Given the description of an element on the screen output the (x, y) to click on. 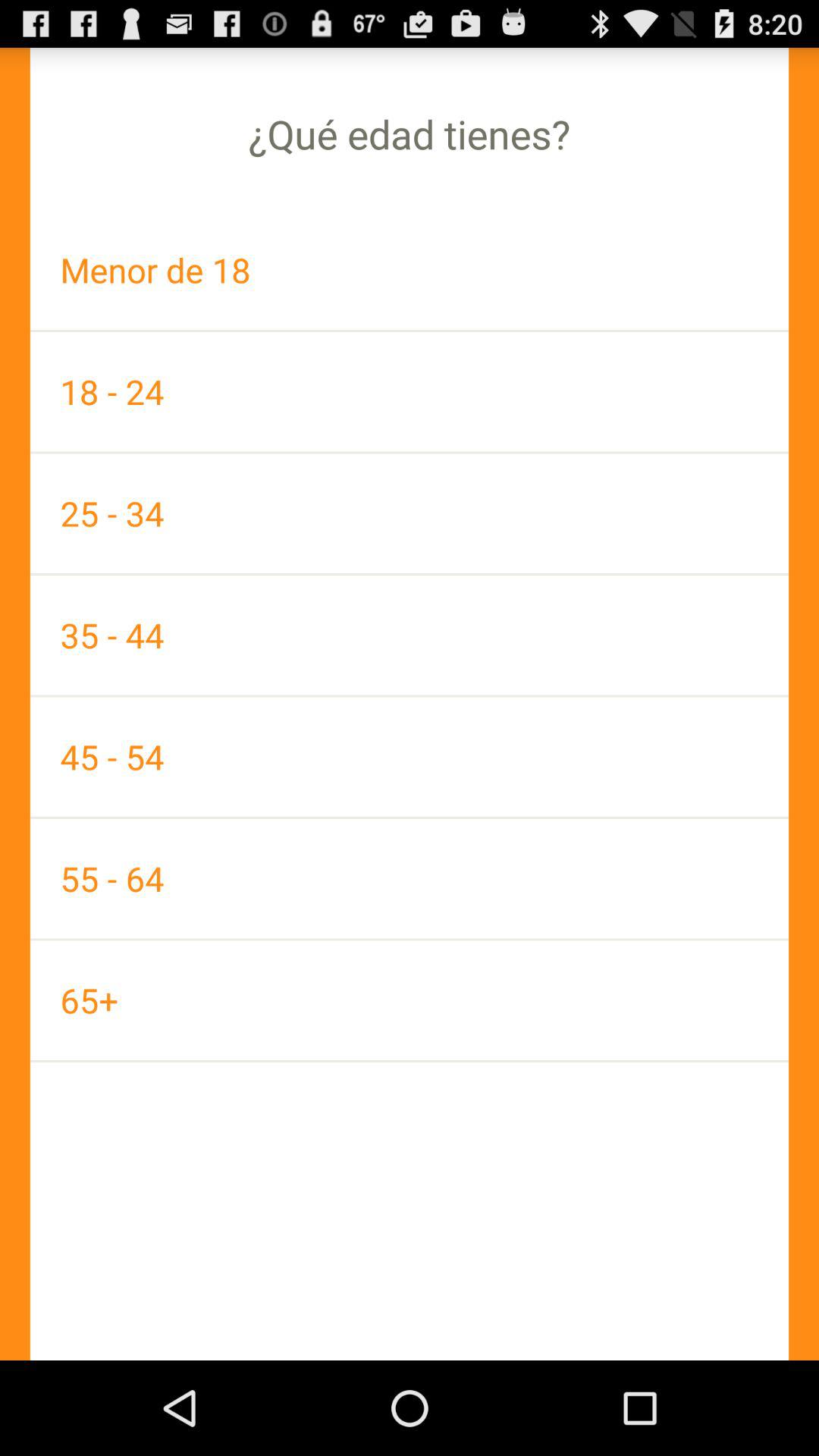
turn on the icon below 45 - 54 (409, 878)
